Given the description of an element on the screen output the (x, y) to click on. 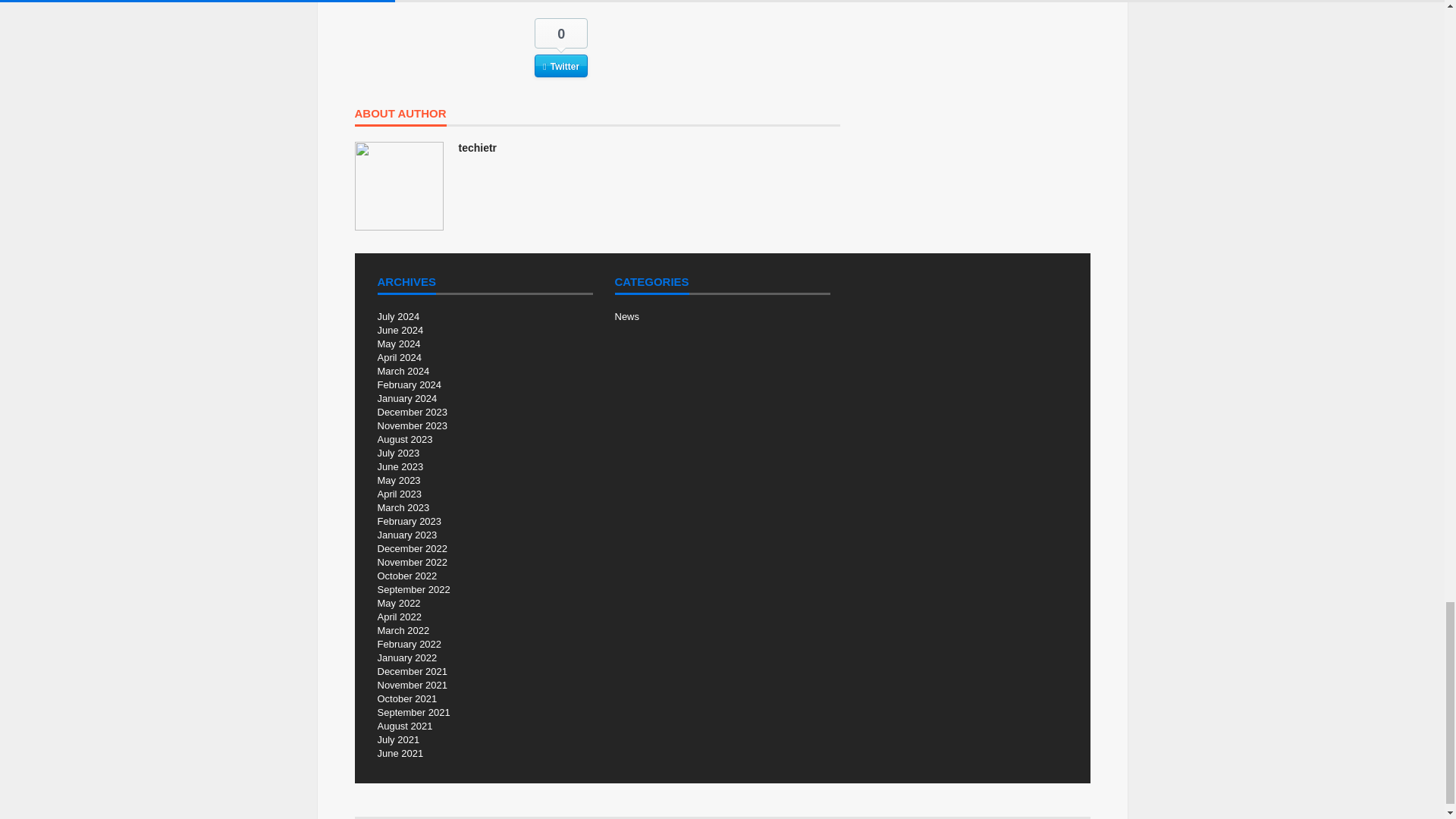
Twitter (561, 65)
ABOUT AUTHOR (400, 116)
April 2024 (399, 357)
July 2024 (398, 316)
February 2024 (409, 384)
June 2024 (400, 329)
March 2024 (403, 370)
May 2024 (398, 343)
0 (561, 33)
